Given the description of an element on the screen output the (x, y) to click on. 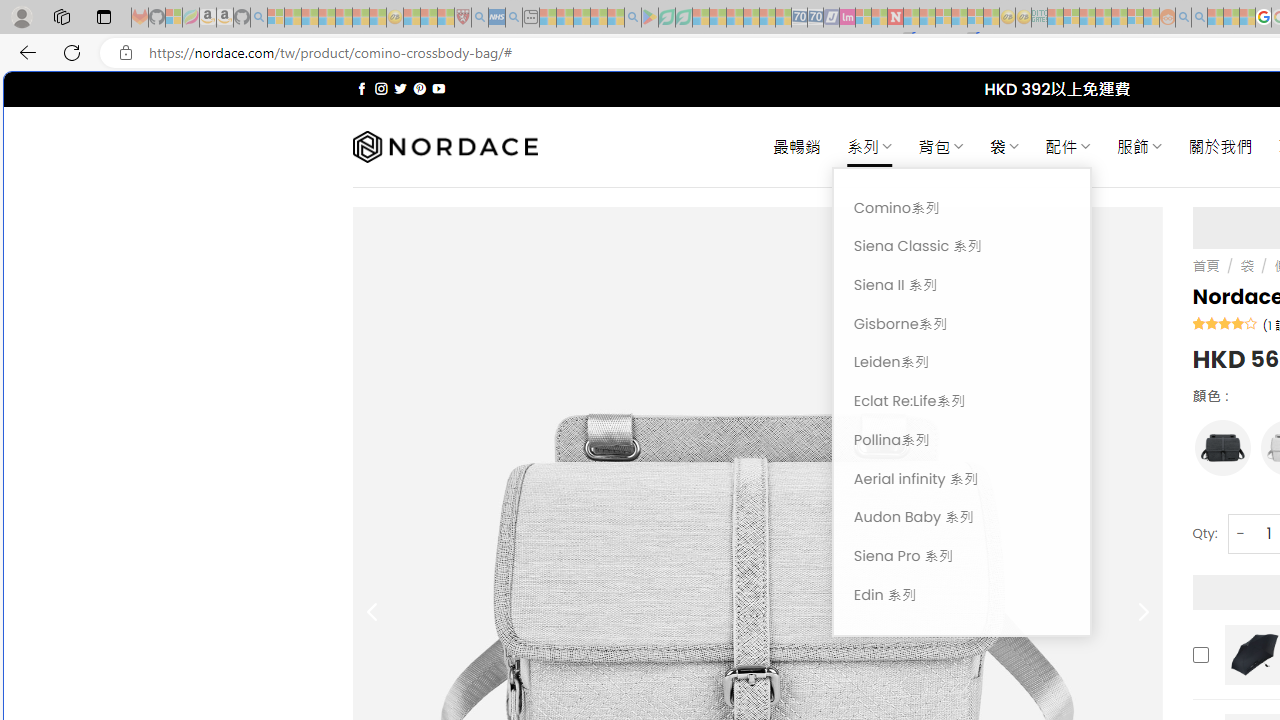
utah sues federal government - Search - Sleeping (513, 17)
Add this product to cart (1200, 654)
Follow on Facebook (361, 88)
